Given the description of an element on the screen output the (x, y) to click on. 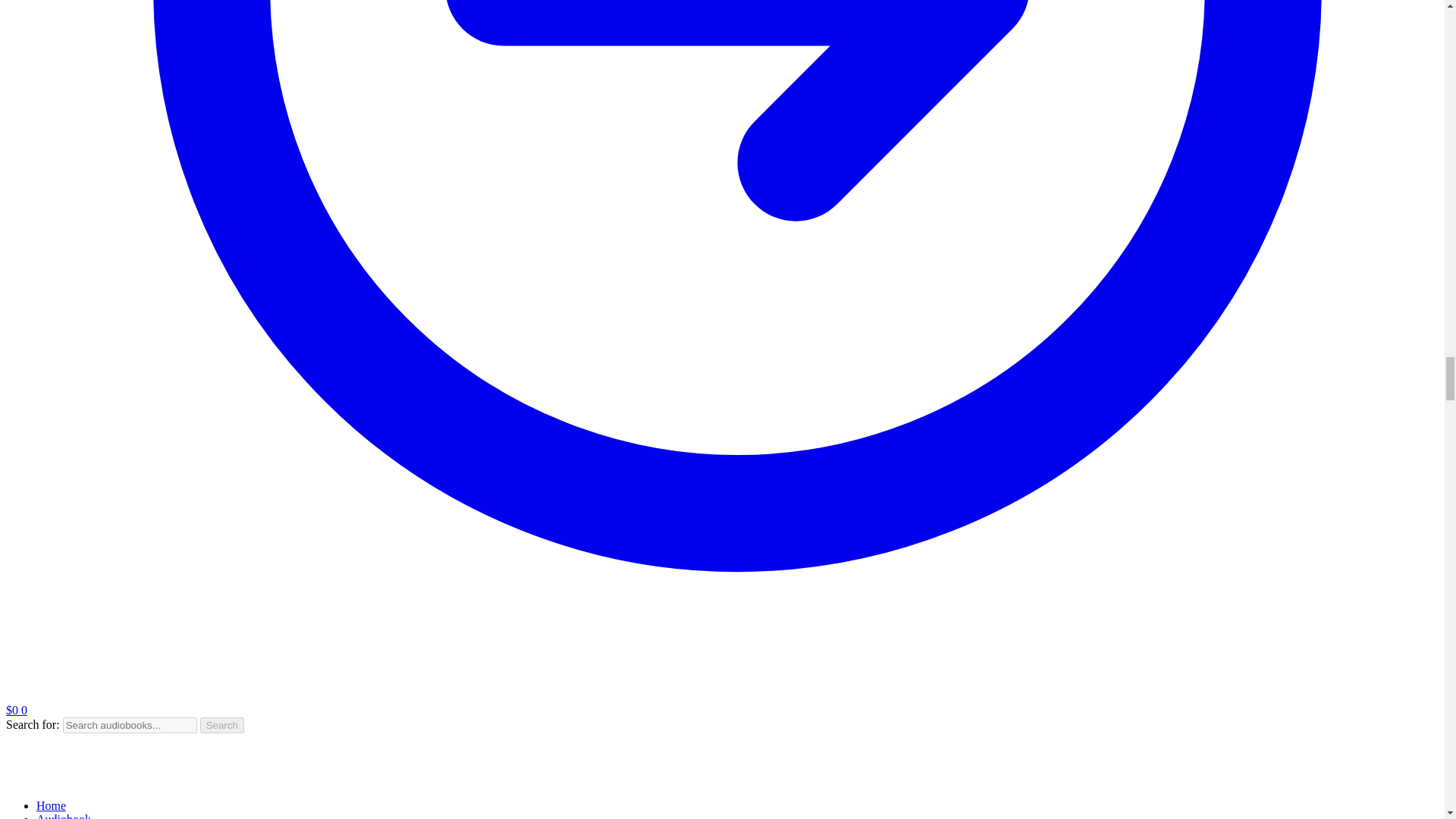
View your shopping cart (16, 709)
Home (50, 805)
Search (222, 725)
Audiobook (63, 816)
